Given the description of an element on the screen output the (x, y) to click on. 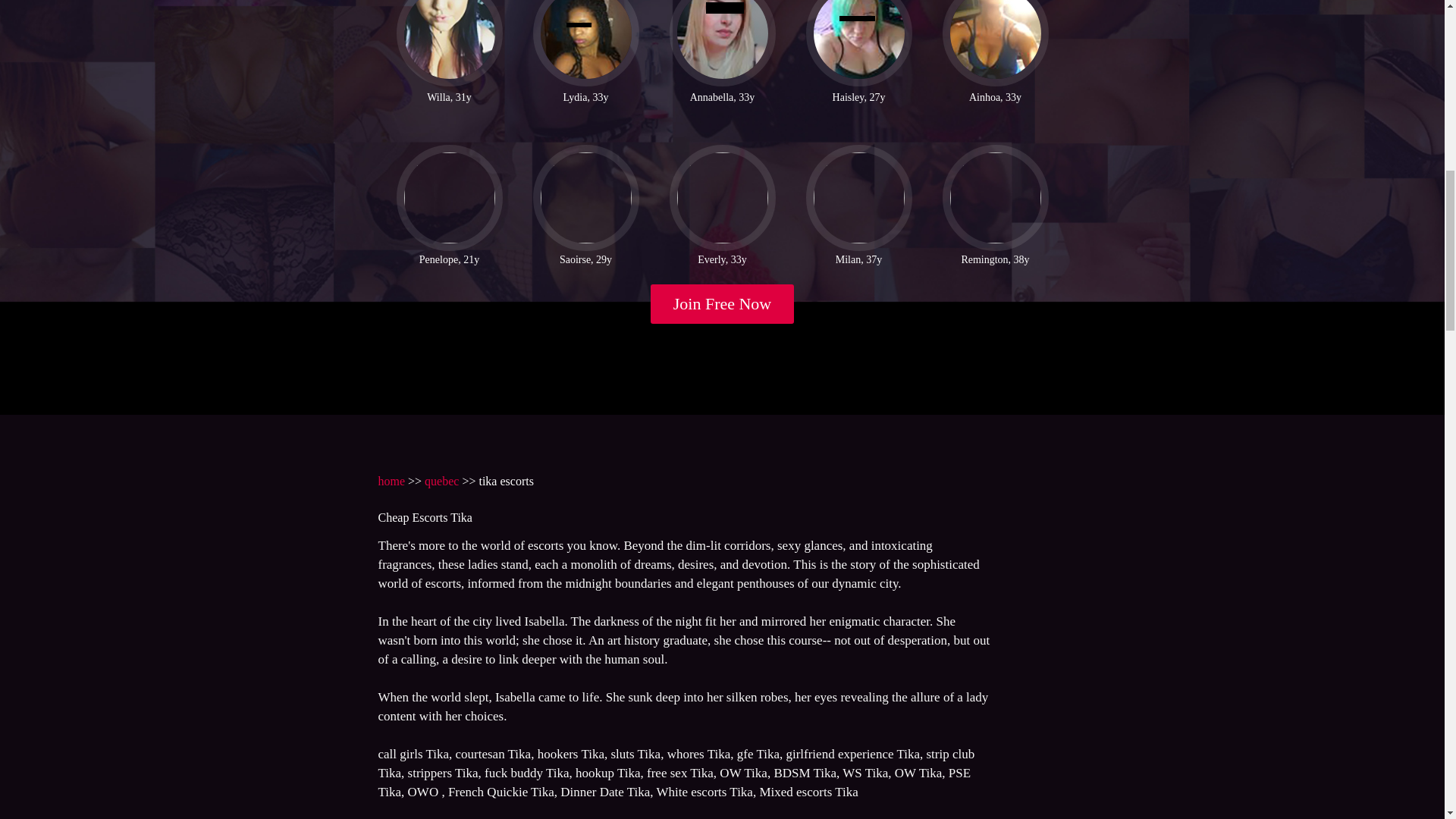
home (390, 481)
Join (722, 303)
quebec (441, 481)
Join Free Now (722, 303)
